Given the description of an element on the screen output the (x, y) to click on. 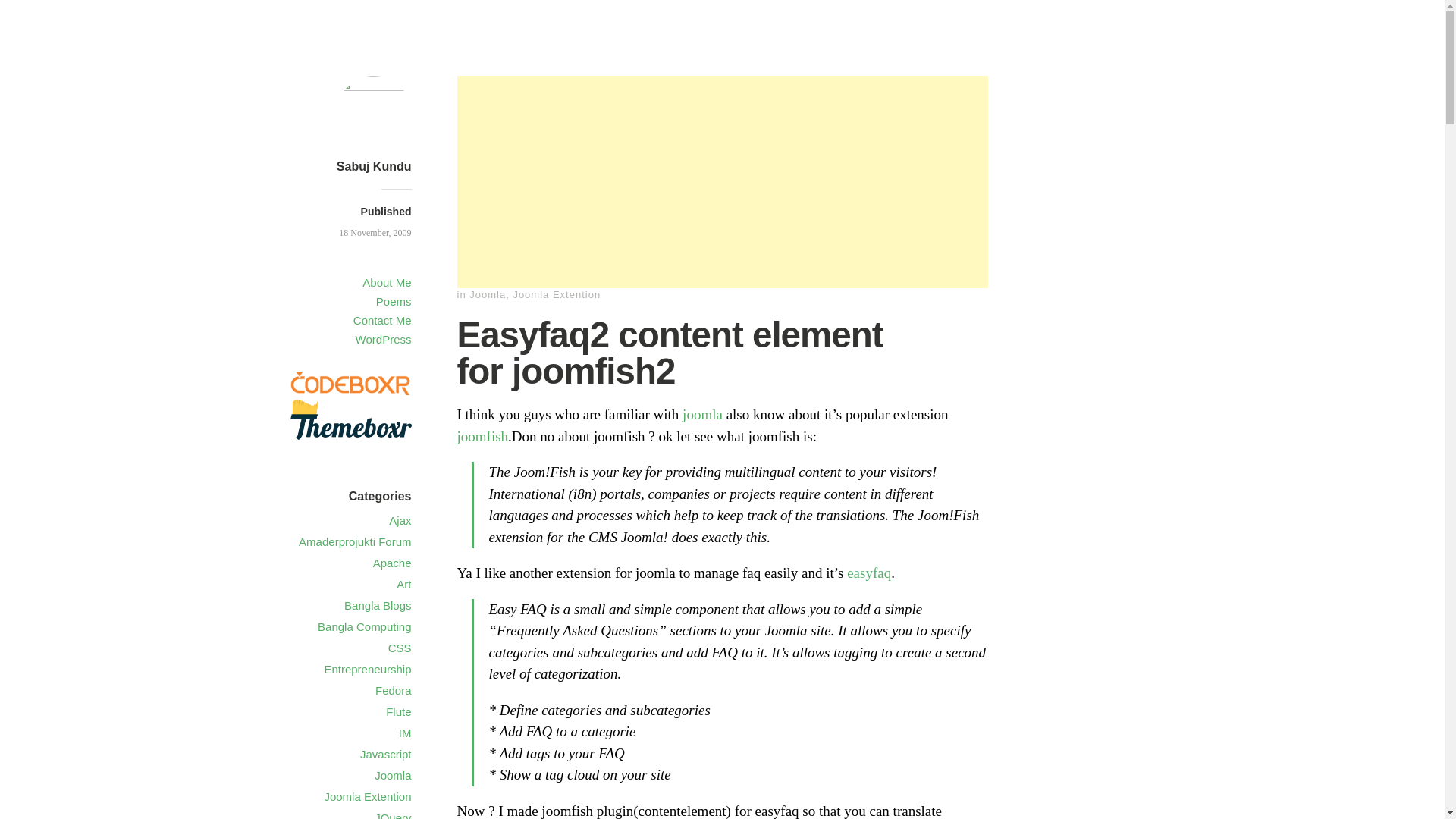
Advertisement (722, 182)
joomfish (482, 436)
Easyfaq2 content element for joomfish2 (374, 232)
WordPress (383, 338)
easyfaq (869, 572)
18 November, 2009 (374, 232)
About Me (386, 282)
Poems (393, 300)
Joomla (486, 294)
Contact Me (382, 319)
